Given the description of an element on the screen output the (x, y) to click on. 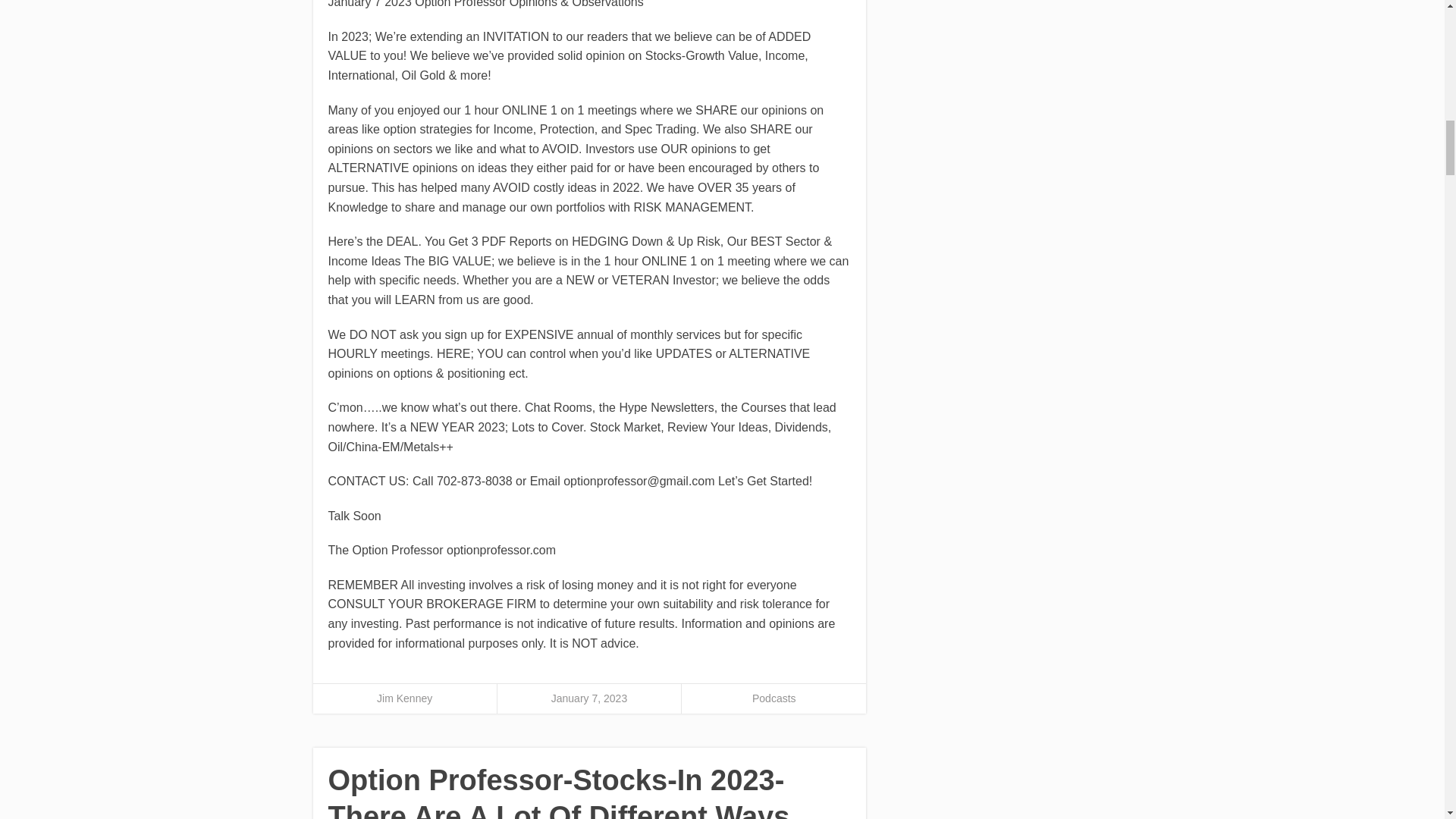
Podcasts (774, 698)
Jim Kenney (404, 698)
